Given the description of an element on the screen output the (x, y) to click on. 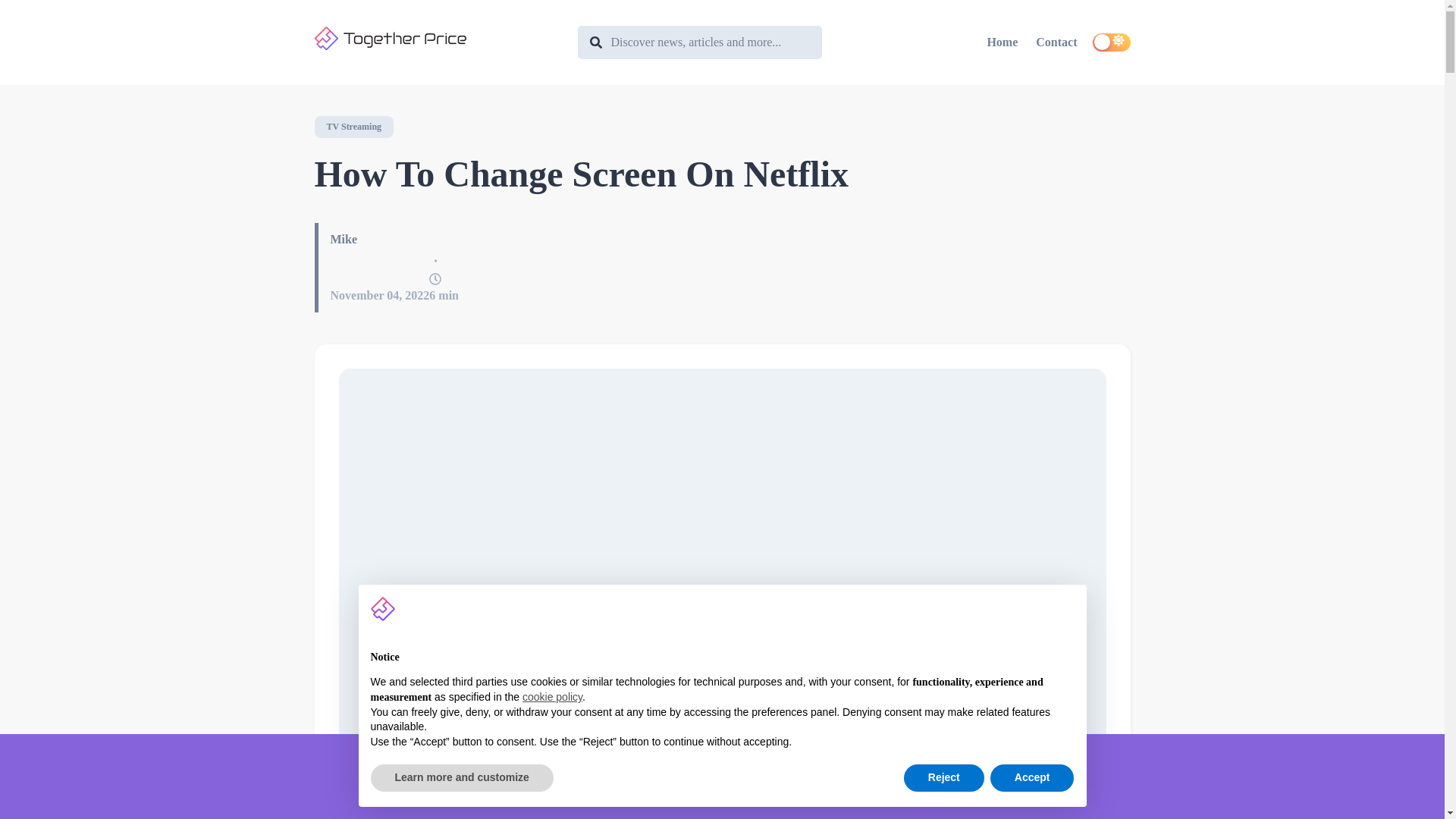
Contact (1056, 42)
Mike (344, 238)
TV Streaming (353, 127)
How To Change Screen On Netflix (721, 174)
Together Price (438, 37)
How To Change Screen On Netflix (721, 174)
Home (1002, 42)
